Given the description of an element on the screen output the (x, y) to click on. 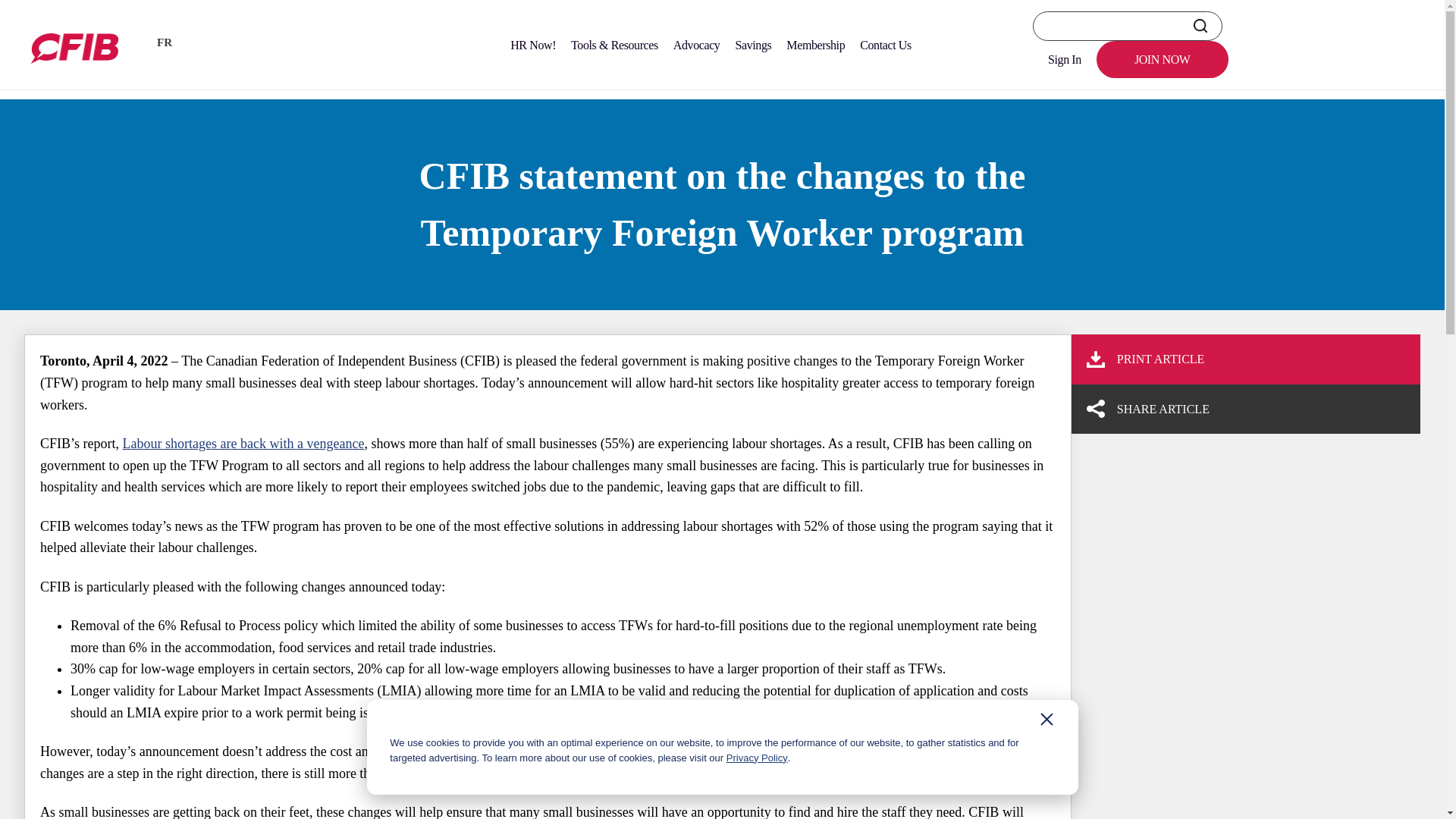
Home (38, 80)
Media Centre (101, 80)
Sign In (1064, 58)
Labour shortages are back with a vengeance (243, 443)
FR (164, 46)
PRINT ARTICLE (1239, 359)
Membership (814, 44)
Search (1200, 25)
Savings (752, 44)
Search (1200, 25)
Advocacy (696, 44)
JOIN NOW (1162, 58)
HR Now! (532, 44)
Contact Us (884, 44)
